Given the description of an element on the screen output the (x, y) to click on. 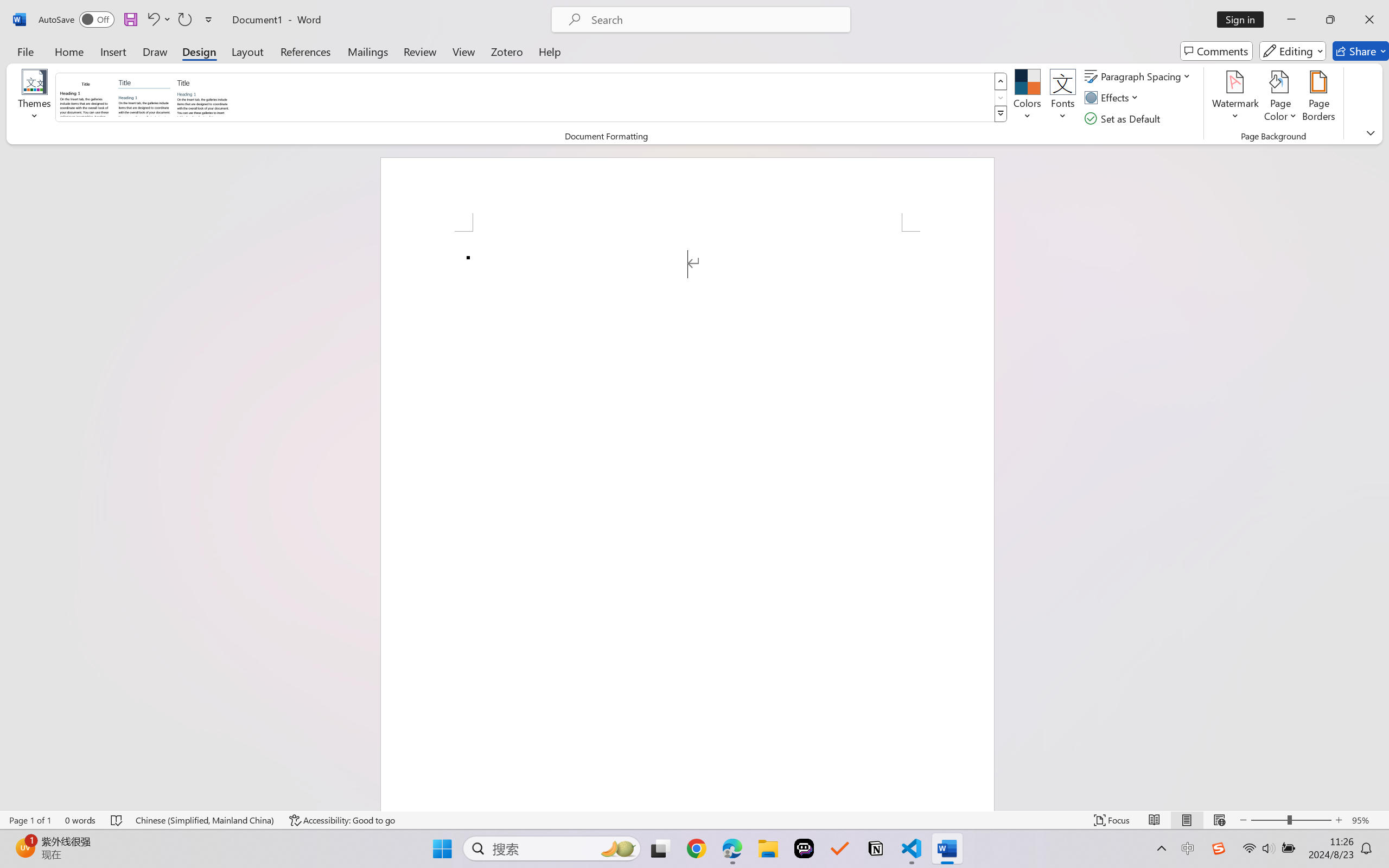
Style Set (1000, 113)
Page Borders... (1318, 97)
Language Chinese (Simplified, Mainland China) (205, 819)
Repeat Style (184, 19)
Editing (1292, 50)
